Given the description of an element on the screen output the (x, y) to click on. 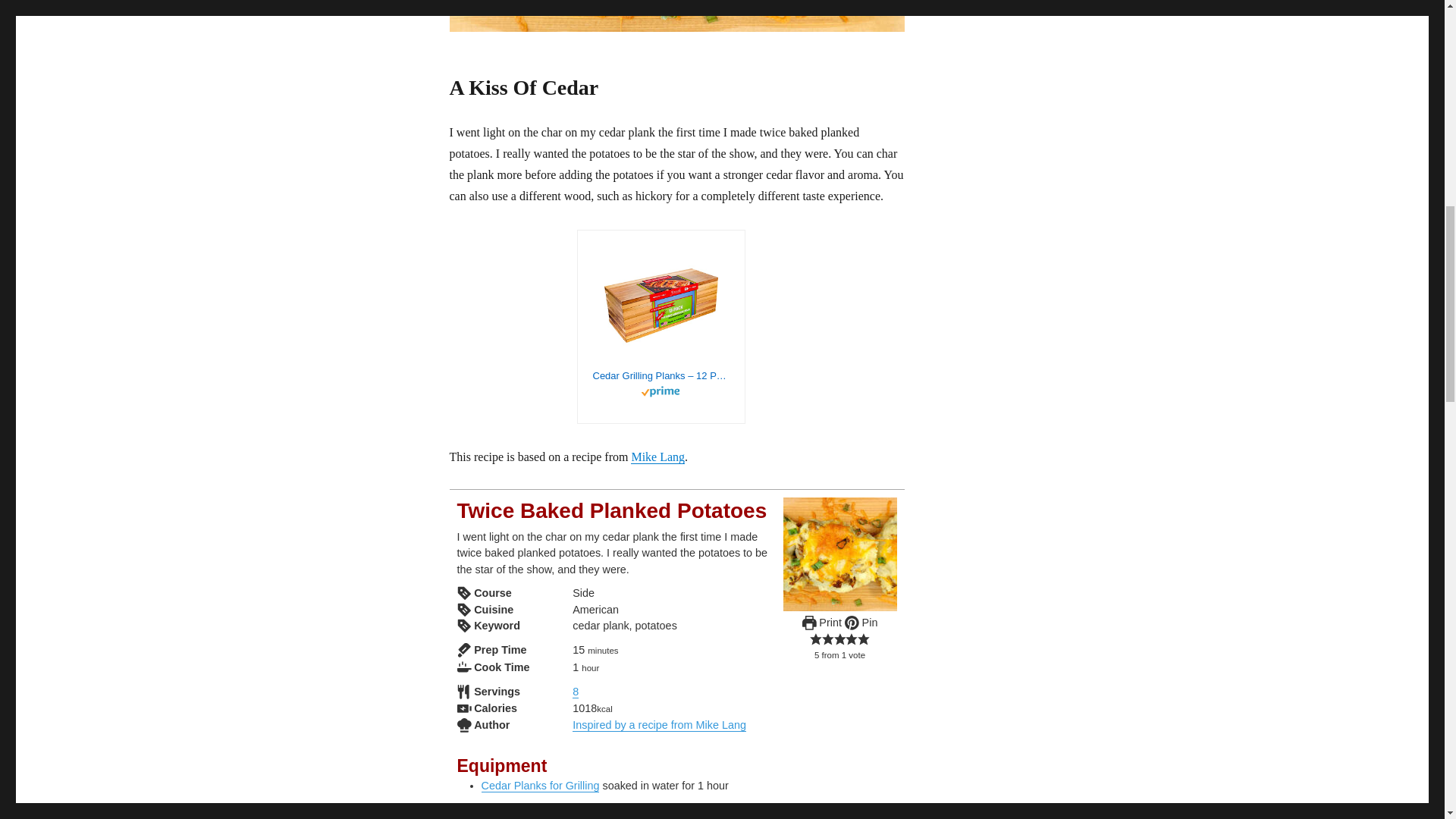
Cedar Grilling Planks - 12 Pack (660, 376)
Pin (860, 622)
Print (821, 622)
Cedar Planks for Grilling (539, 785)
Inspired by a recipe from Mike Lang (658, 725)
Mike Lang (657, 456)
